Given the description of an element on the screen output the (x, y) to click on. 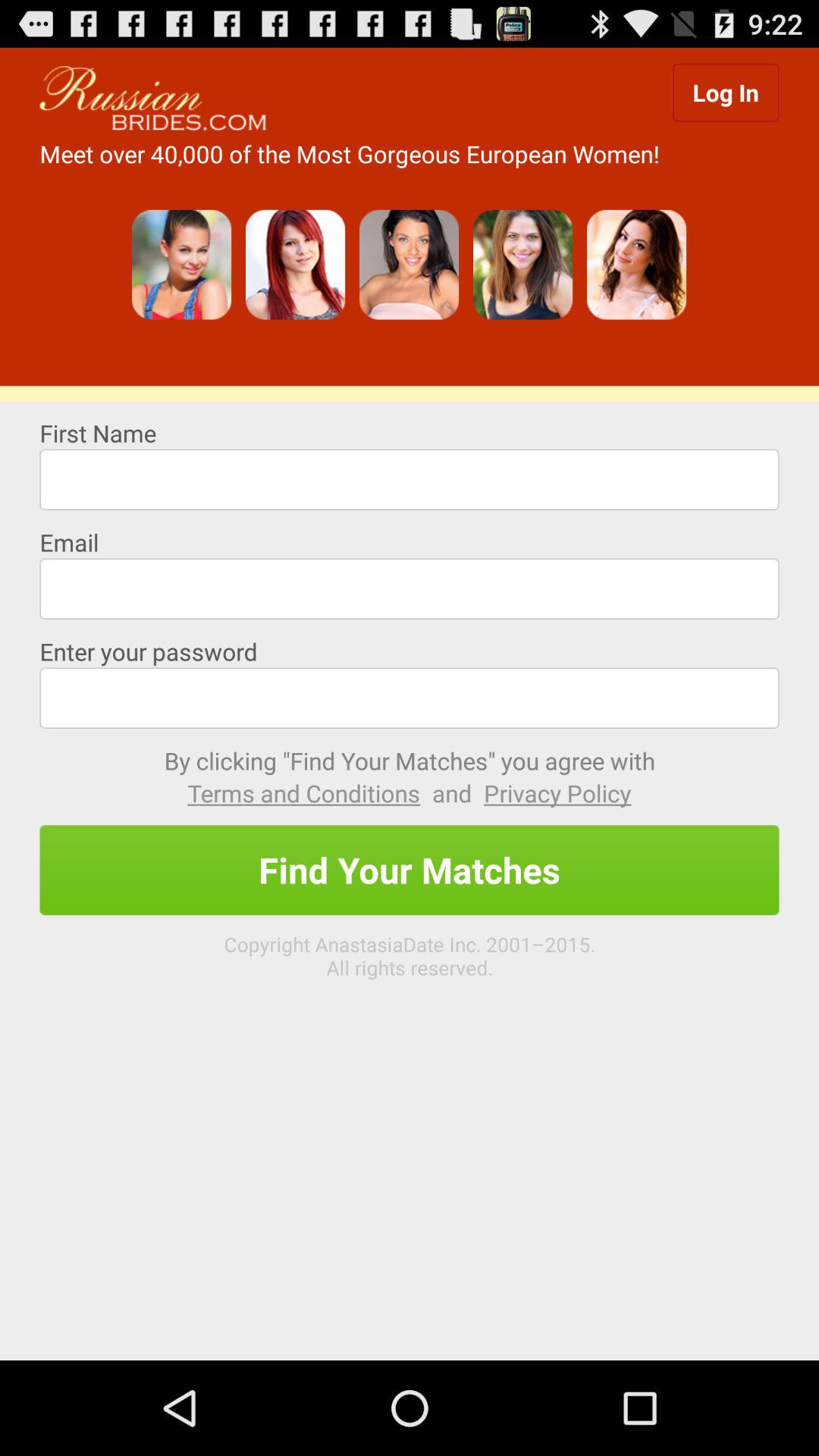
enter password (409, 697)
